Given the description of an element on the screen output the (x, y) to click on. 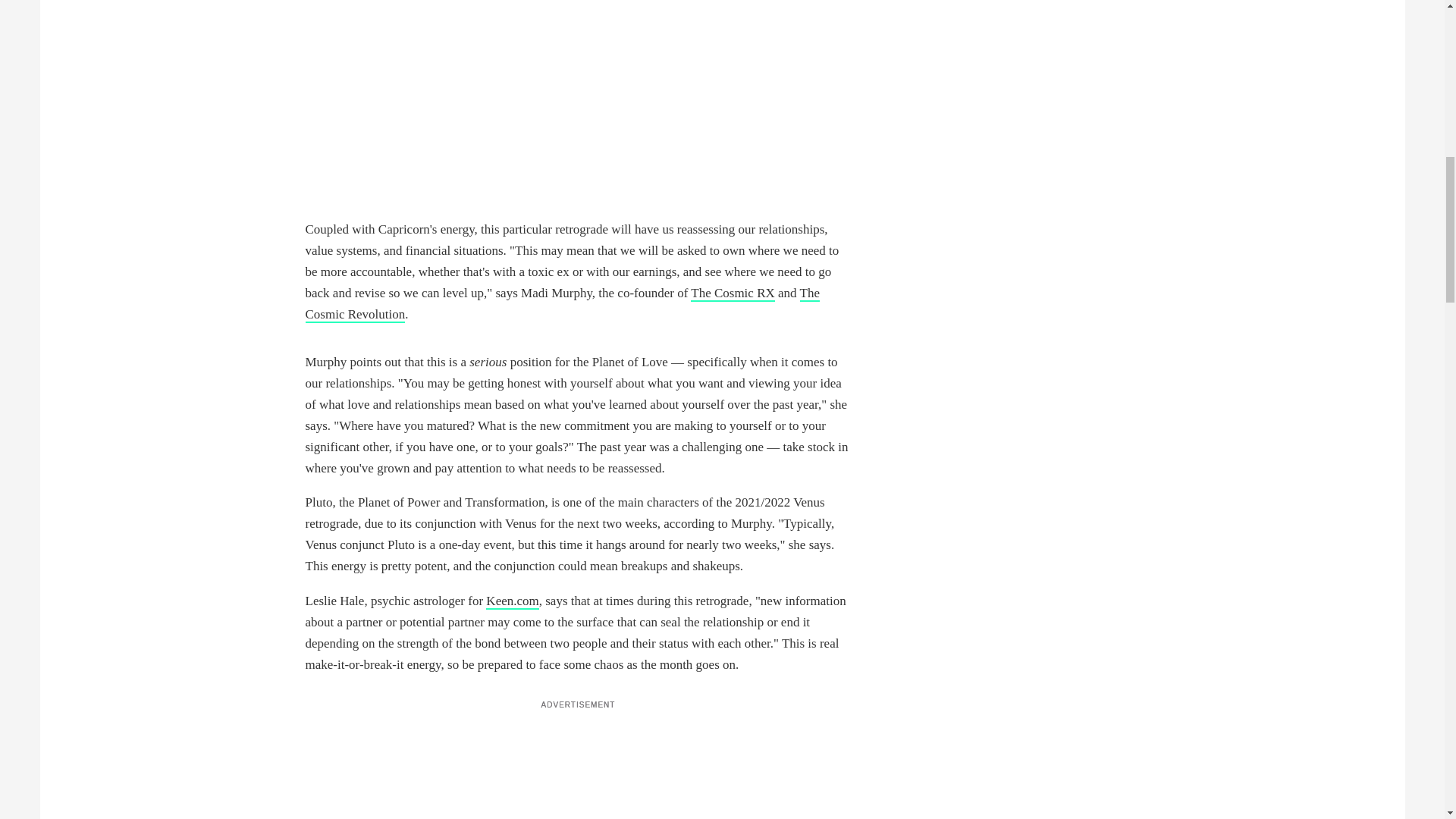
Keen.com (512, 600)
The Cosmic RX (732, 293)
The Cosmic Revolution (561, 303)
